Given the description of an element on the screen output the (x, y) to click on. 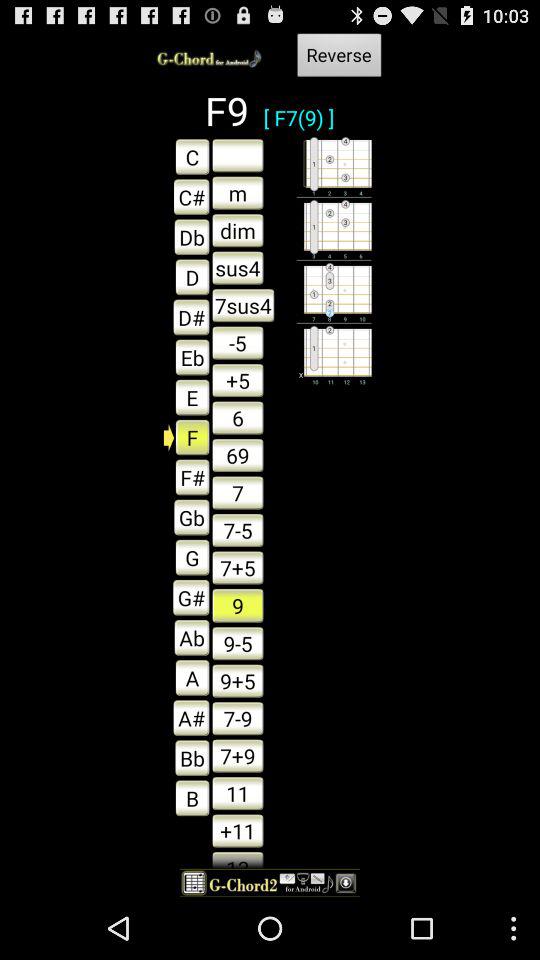
open item below the d# item (186, 357)
